Given the description of an element on the screen output the (x, y) to click on. 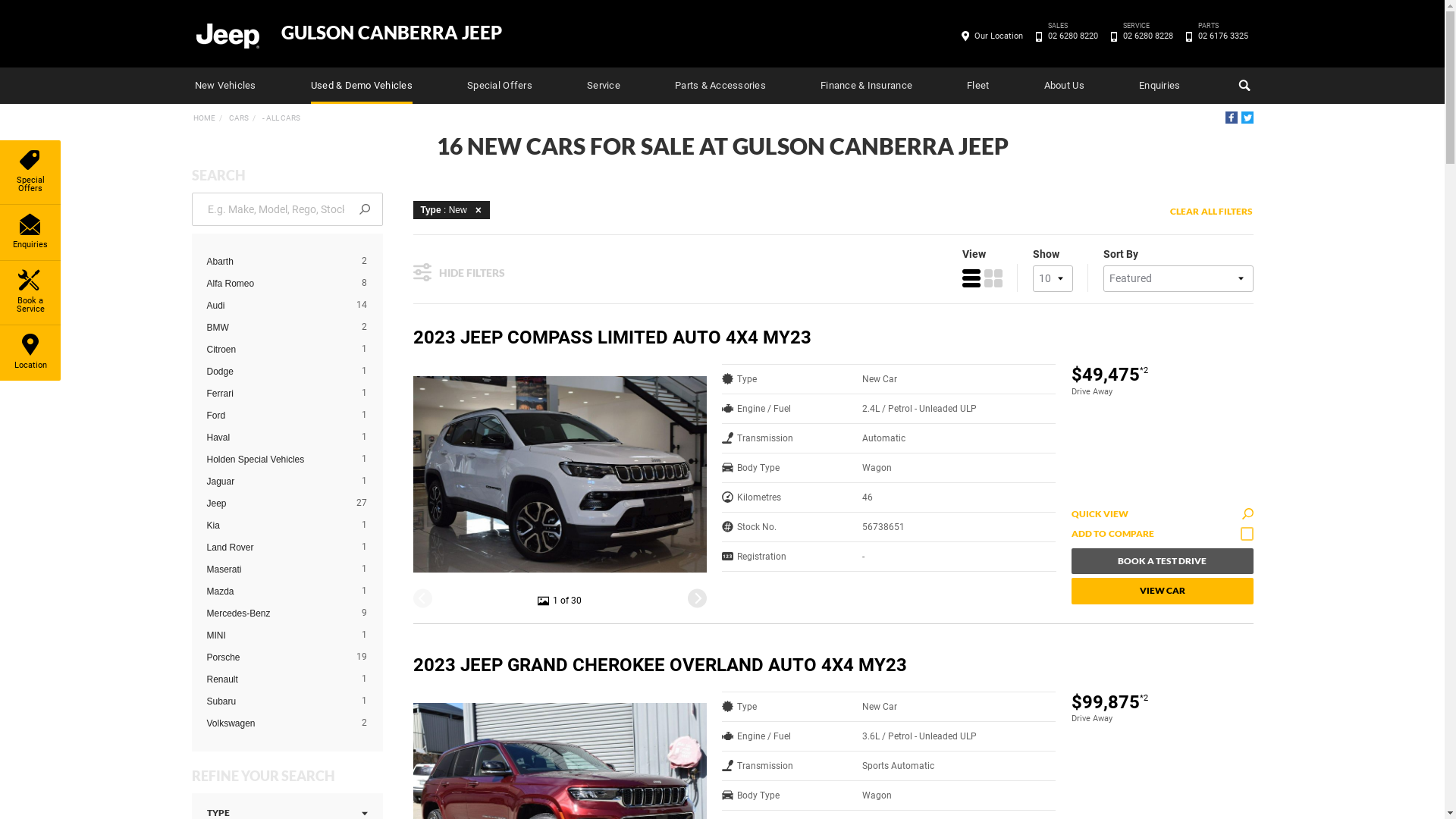
Our Location Element type: text (998, 35)
Mercedes-Benz Element type: text (275, 613)
GULSON CANBERRA JEEP Element type: text (390, 32)
SALES
02 6280 8220 Element type: text (1071, 35)
Renault Element type: text (275, 679)
2023 JEEP GRAND CHEROKEE OVERLAND AUTO 4X4 MY23 Element type: text (758, 665)
Used & Demo Vehicles Element type: text (361, 85)
Maserati Element type: text (275, 569)
Kia Element type: text (275, 525)
PARTS
02 6176 3325 Element type: text (1222, 35)
About Us Element type: text (1064, 85)
HOME Element type: text (203, 117)
Location Element type: text (30, 352)
Enquiries Element type: text (1159, 85)
MINI Element type: text (275, 635)
Enquiries Element type: text (30, 232)
Special Offers Element type: text (499, 85)
Dodge Element type: text (275, 371)
Fleet Element type: text (977, 85)
BMW Element type: text (275, 327)
QUICK VIEW Element type: text (1161, 514)
Ferrari Element type: text (275, 393)
- ALL CARS Element type: text (280, 117)
HIDE FILTERS Element type: text (458, 269)
BOOK A TEST DRIVE Element type: text (1161, 561)
New Vehicles Element type: text (224, 85)
Special Offers Element type: text (30, 171)
Jeep Element type: text (275, 503)
Gulson Canberra Jeep Element type: hover (226, 34)
Abarth Element type: text (275, 261)
Mazda Element type: text (275, 591)
Finance & Insurance Element type: text (866, 85)
CLEAR ALL FILTERS Element type: text (1211, 211)
Search Element type: text (1241, 85)
Audi Element type: text (275, 305)
Switch to List View Element type: hover (970, 277)
Parts & Accessories Element type: text (719, 85)
Subaru Element type: text (275, 701)
Jaguar Element type: text (275, 481)
SERVICE
02 6280 8228 Element type: text (1147, 35)
Twitter Element type: hover (1246, 117)
Alfa Romeo Element type: text (275, 283)
VIEW CAR Element type: text (1161, 590)
Ford Element type: text (275, 415)
Haval Element type: text (275, 437)
Holden Special Vehicles Element type: text (275, 459)
Land Rover Element type: text (275, 547)
Service Element type: text (603, 85)
Facebook Element type: hover (1231, 117)
Citroen Element type: text (275, 349)
Switch to Grid View Element type: hover (993, 277)
Type : New Element type: text (450, 209)
2023 JEEP COMPASS LIMITED AUTO 4X4 MY23 Element type: text (758, 337)
Porsche Element type: text (275, 657)
Volkswagen Element type: text (275, 723)
Book a Service Element type: text (30, 292)
CARS Element type: text (237, 117)
